Given the description of an element on the screen output the (x, y) to click on. 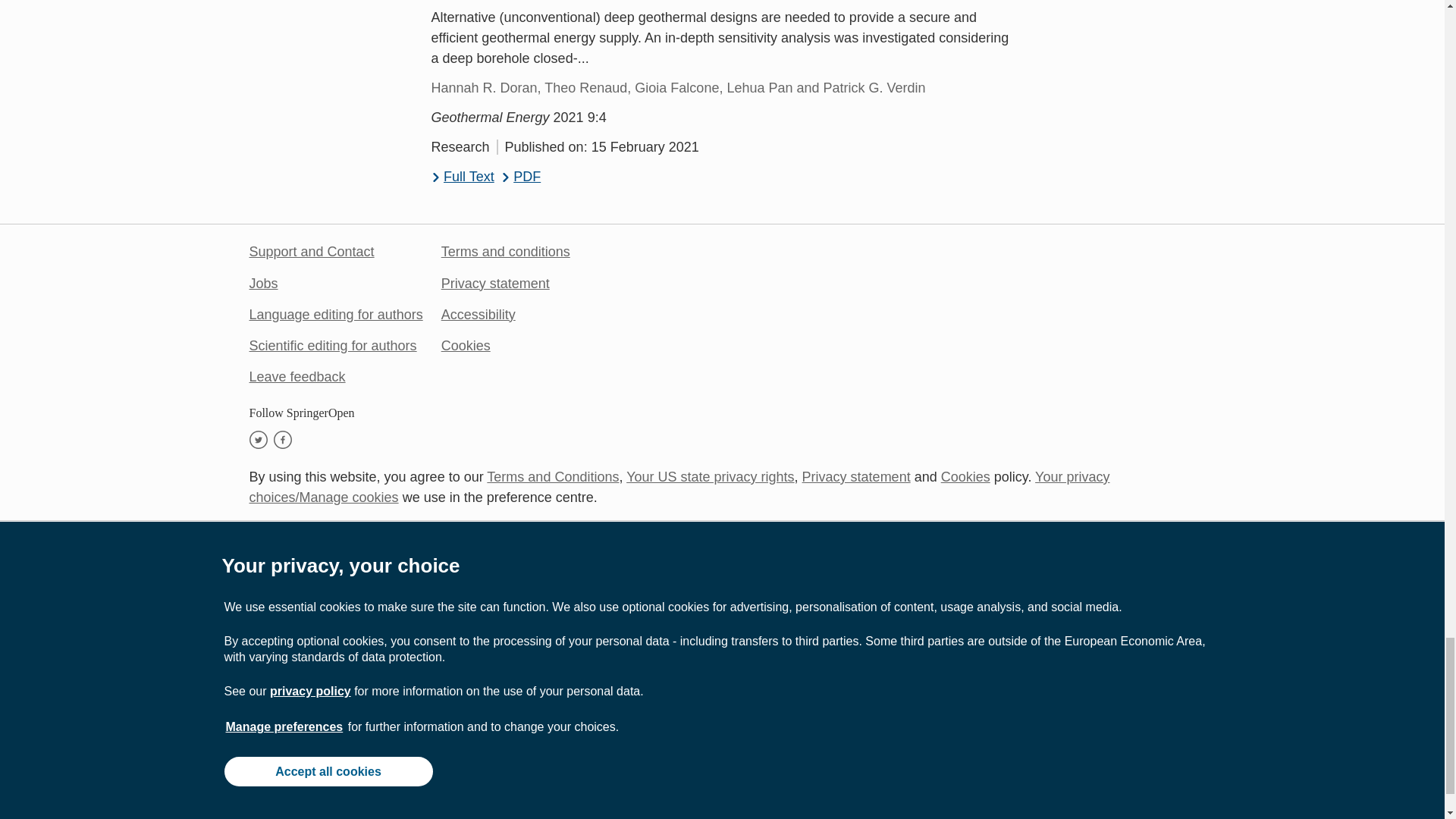
PDF (520, 177)
Full Text (461, 177)
